Given the description of an element on the screen output the (x, y) to click on. 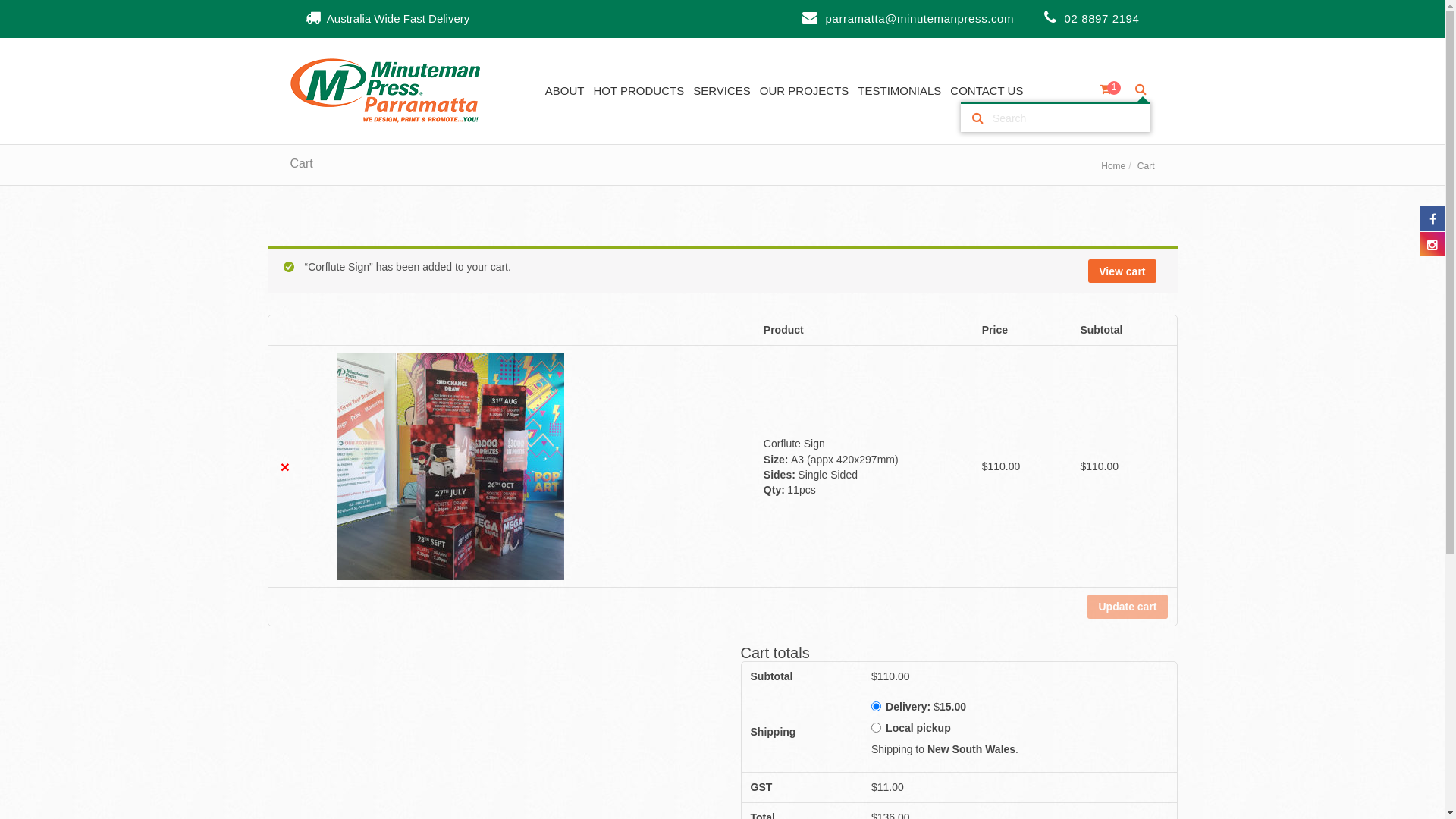
Corflute Sign Element type: text (794, 443)
CONTACT US Element type: text (986, 90)
Search Element type: text (981, 117)
ABOUT Element type: text (564, 90)
1 Element type: text (1108, 90)
HOT PRODUCTS Element type: text (638, 90)
Update cart Element type: text (1127, 606)
View cart Element type: text (1121, 270)
SERVICES Element type: text (721, 90)
OUR PROJECTS Element type: text (804, 90)
TESTIMONIALS Element type: text (899, 90)
Home Element type: text (1113, 165)
